Given the description of an element on the screen output the (x, y) to click on. 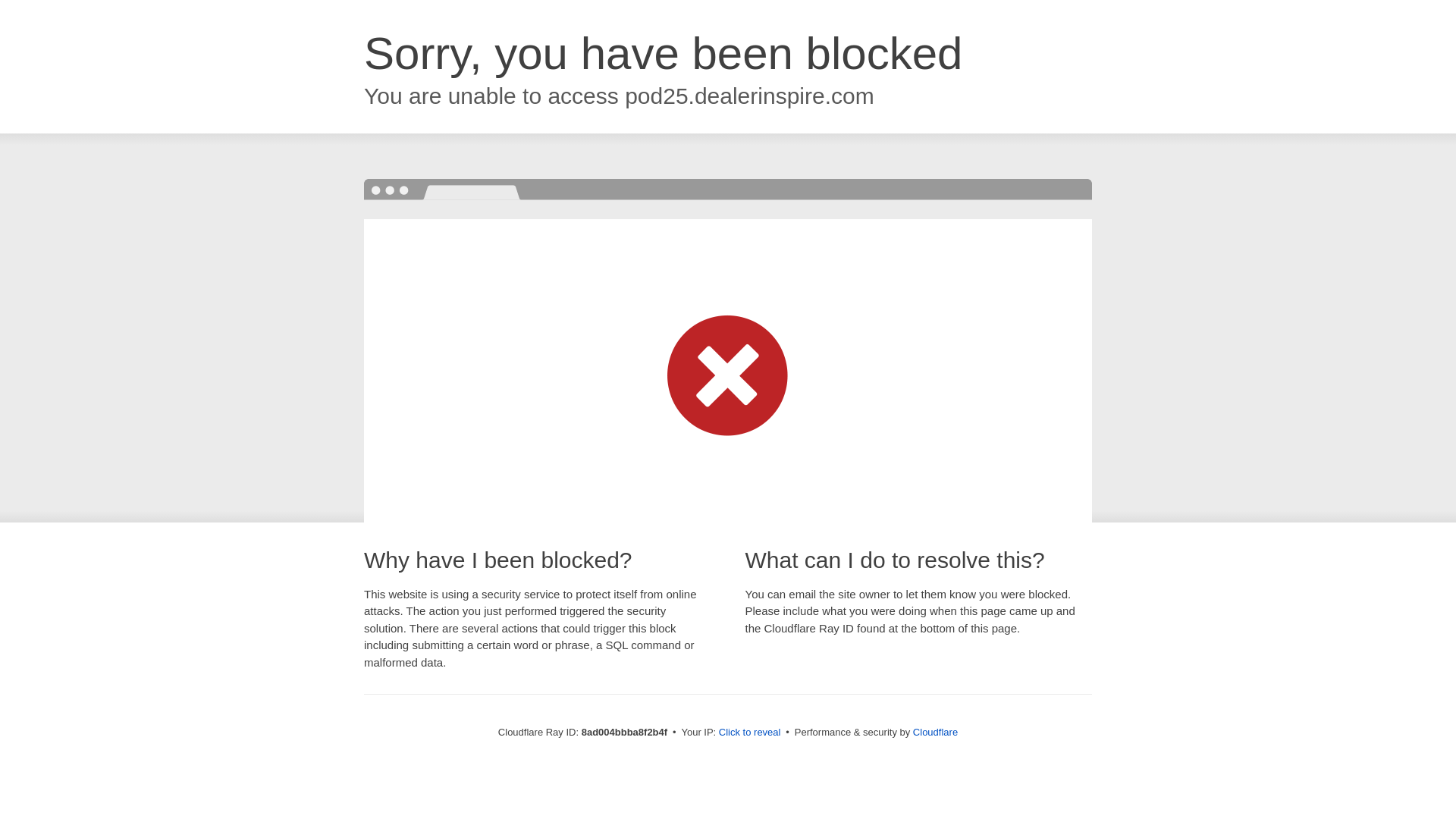
Click to reveal (749, 732)
Cloudflare (935, 731)
